Given the description of an element on the screen output the (x, y) to click on. 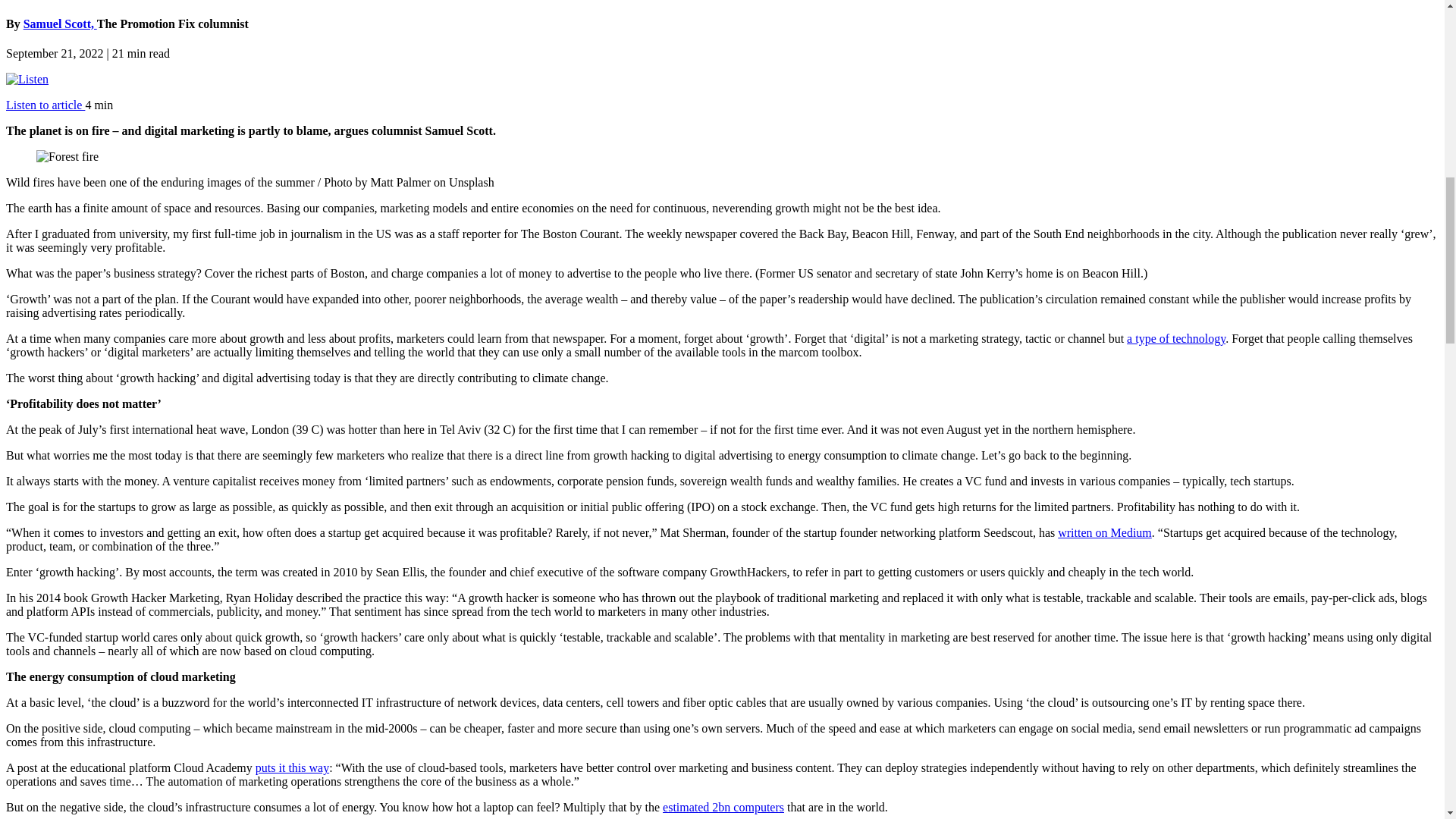
written on Medium (1104, 532)
a type of technology (1175, 338)
Listen to article (44, 104)
puts it this way (292, 767)
Samuel Scott, (60, 23)
estimated 2bn computers (723, 807)
Forest fire (67, 156)
